Given the description of an element on the screen output the (x, y) to click on. 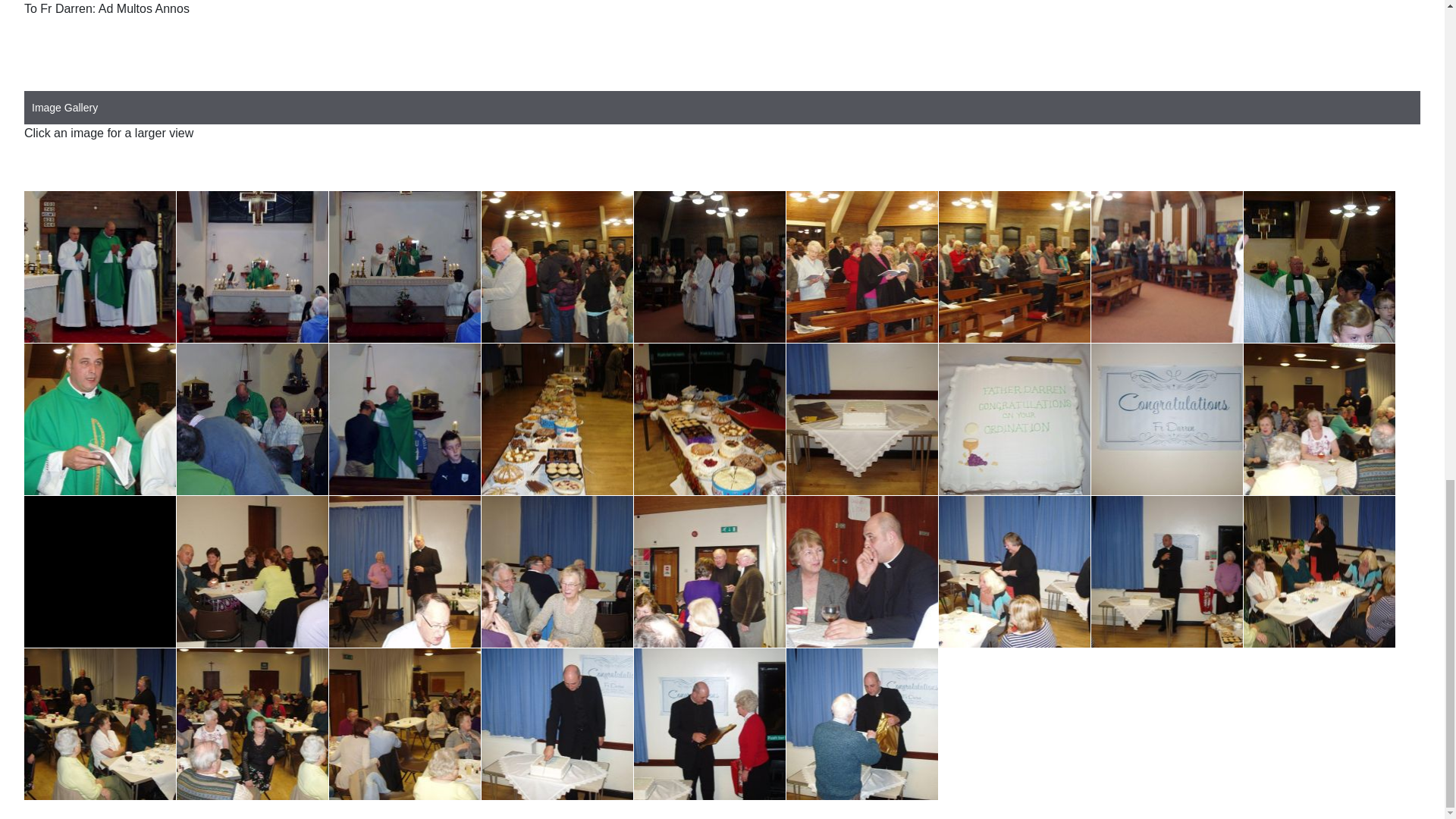
You are viewing the image with filename 2287.jpg (100, 419)
You are viewing the image with filename 2283.jpg (861, 266)
You are viewing the image with filename 2281.jpg (557, 266)
You are viewing the image with filename 2280.jpg (404, 266)
You are viewing the image with filename 2279.jpg (252, 266)
You are viewing the image with filename 2278.jpg (100, 266)
You are viewing the image with filename 2285.jpg (1166, 266)
You are viewing the image with filename 2284.jpg (1014, 266)
You are viewing the image with filename 2282.jpg (709, 266)
You are viewing the image with filename 2286.jpg (1318, 266)
